Given the description of an element on the screen output the (x, y) to click on. 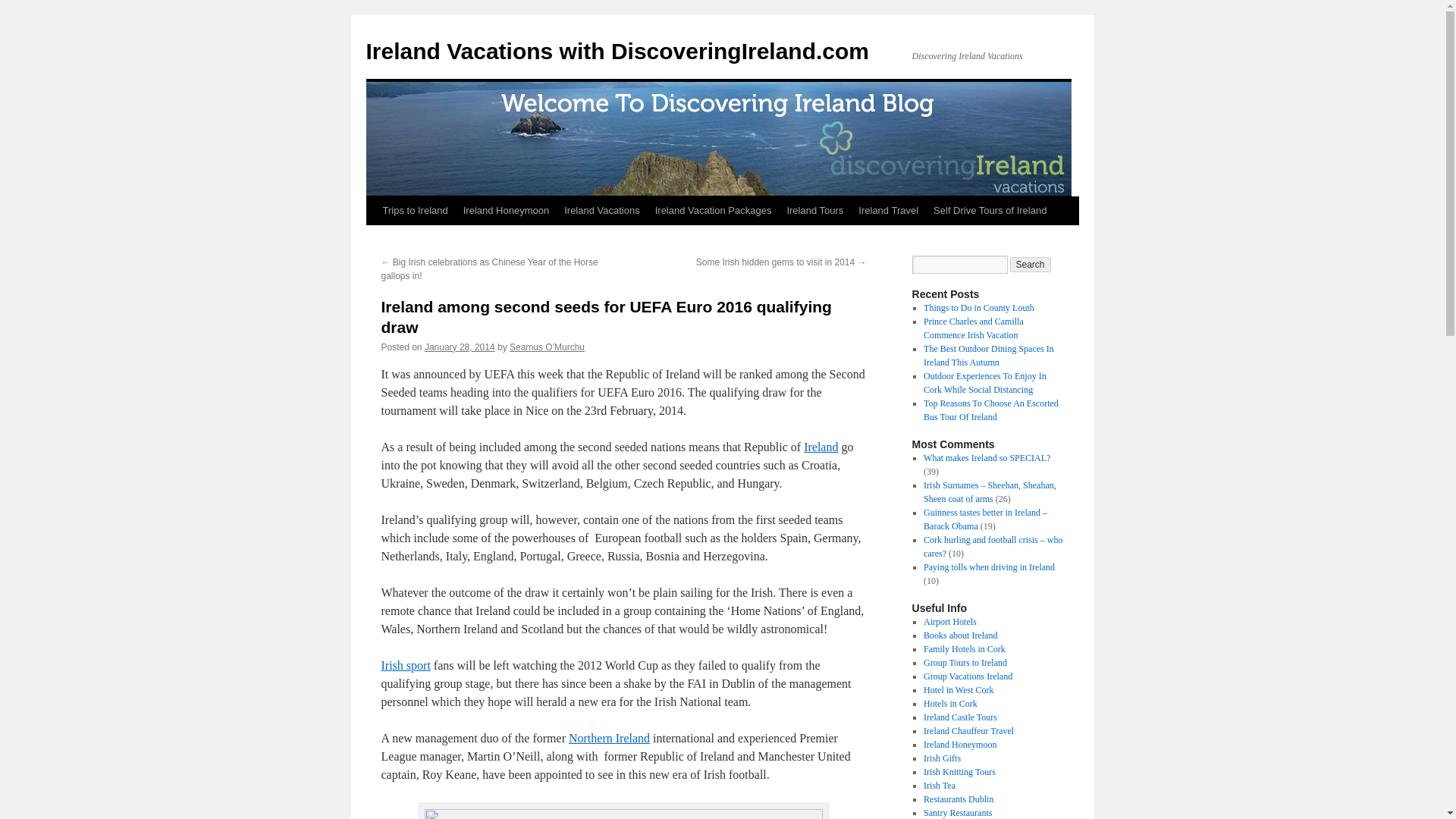
6:07 pm (460, 347)
Skip to content (372, 238)
Ireland Travel (888, 210)
Ireland Tours (814, 210)
Irish sport (404, 665)
Ireland (820, 446)
Ireland Vacations (601, 210)
Self Drive Tours of Ireland (990, 210)
Northern Ireland (609, 738)
Seamus O'Murchu (547, 347)
Trip to Ireland (820, 446)
Sports in Ireland (404, 665)
Ireland Honeymoon (505, 210)
What makes Ireland so SPECIAL? (986, 457)
View all posts by Seamus O'Murchu (547, 347)
